Given the description of an element on the screen output the (x, y) to click on. 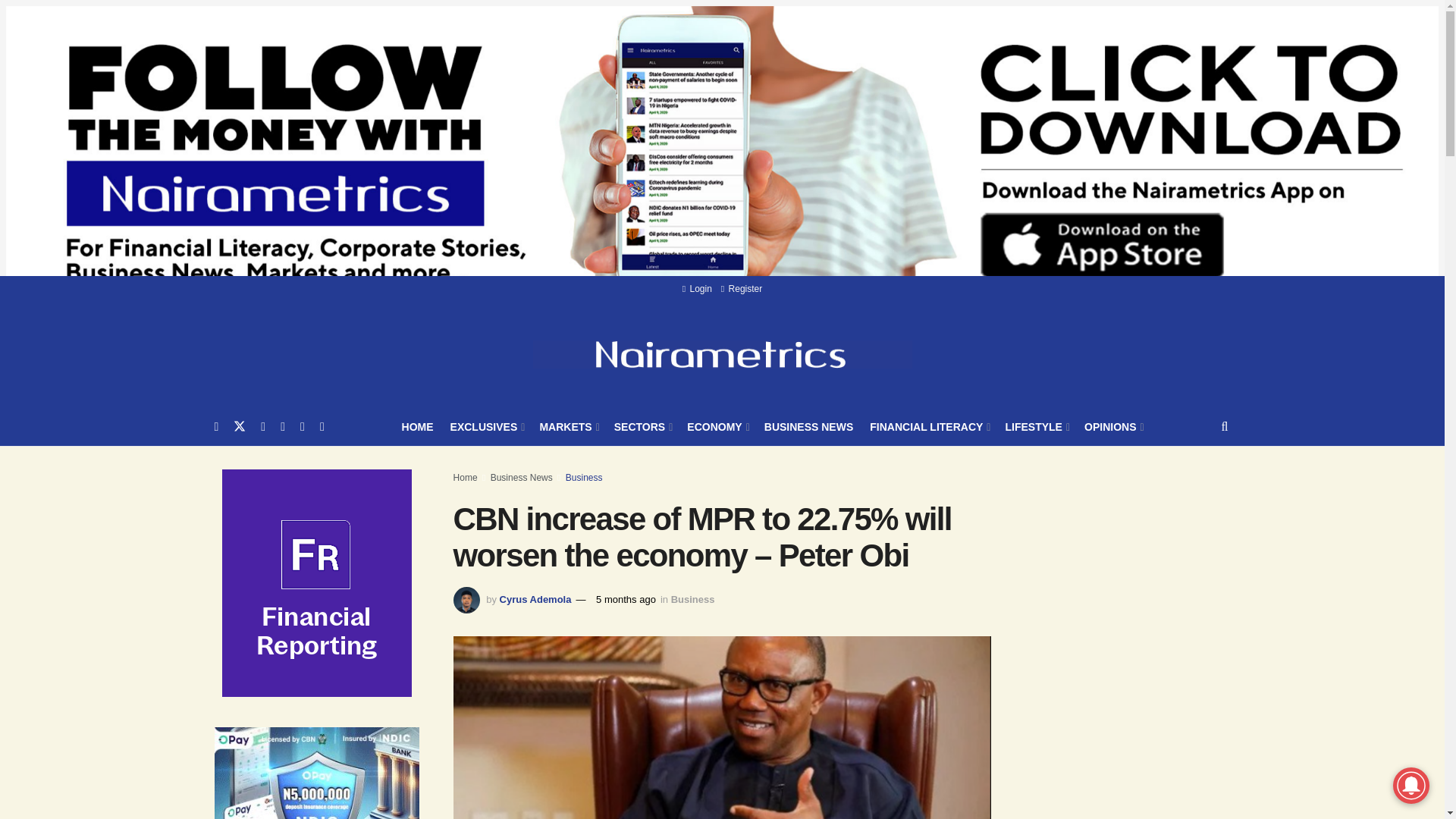
EXCLUSIVES (485, 426)
MARKETS (567, 426)
SECTORS (642, 426)
Register (740, 289)
HOME (417, 426)
3rd party ad content (1138, 583)
Login (696, 289)
